Given the description of an element on the screen output the (x, y) to click on. 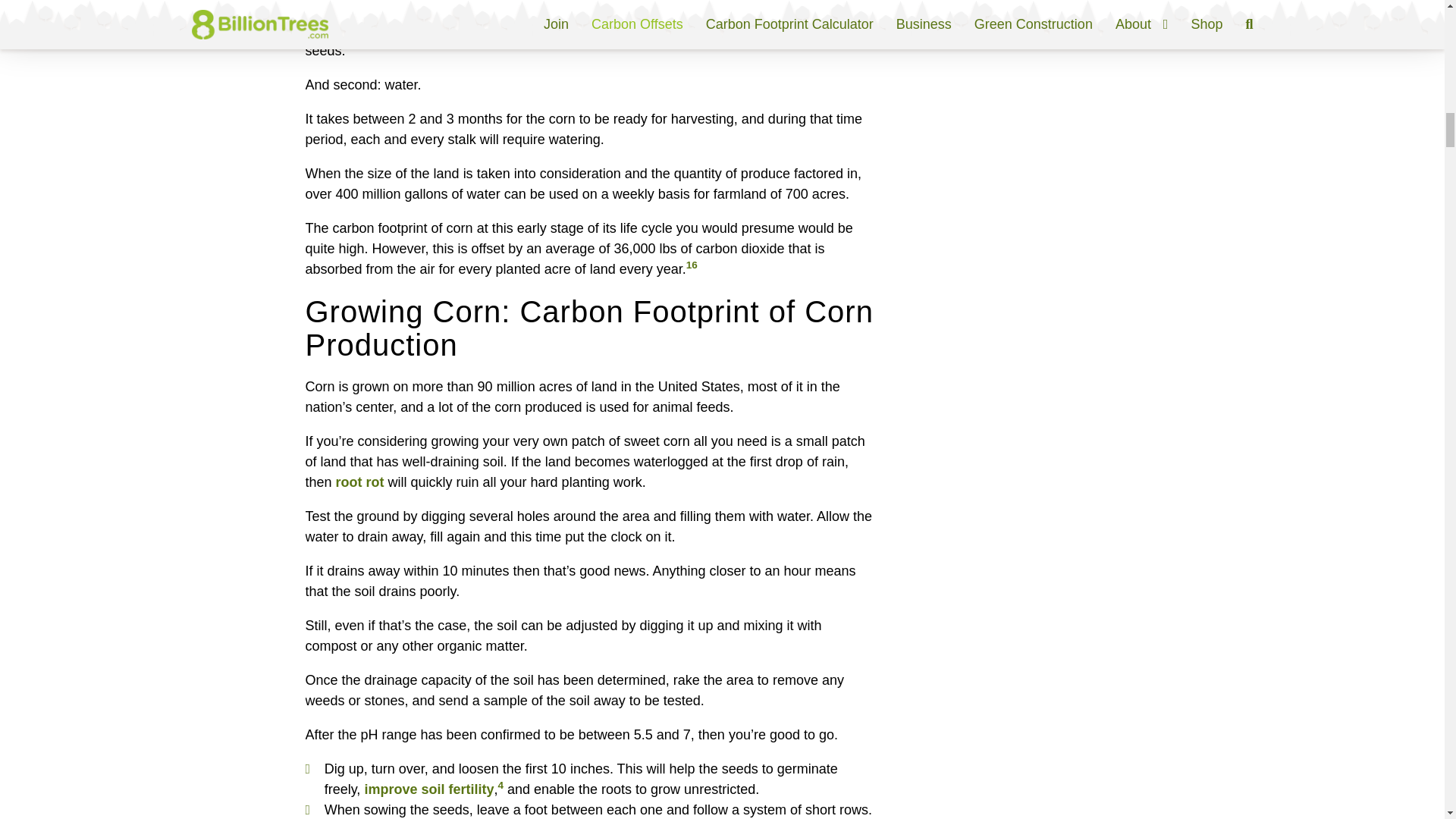
16 (691, 265)
improve soil fertility (428, 789)
root rot (360, 482)
